Given the description of an element on the screen output the (x, y) to click on. 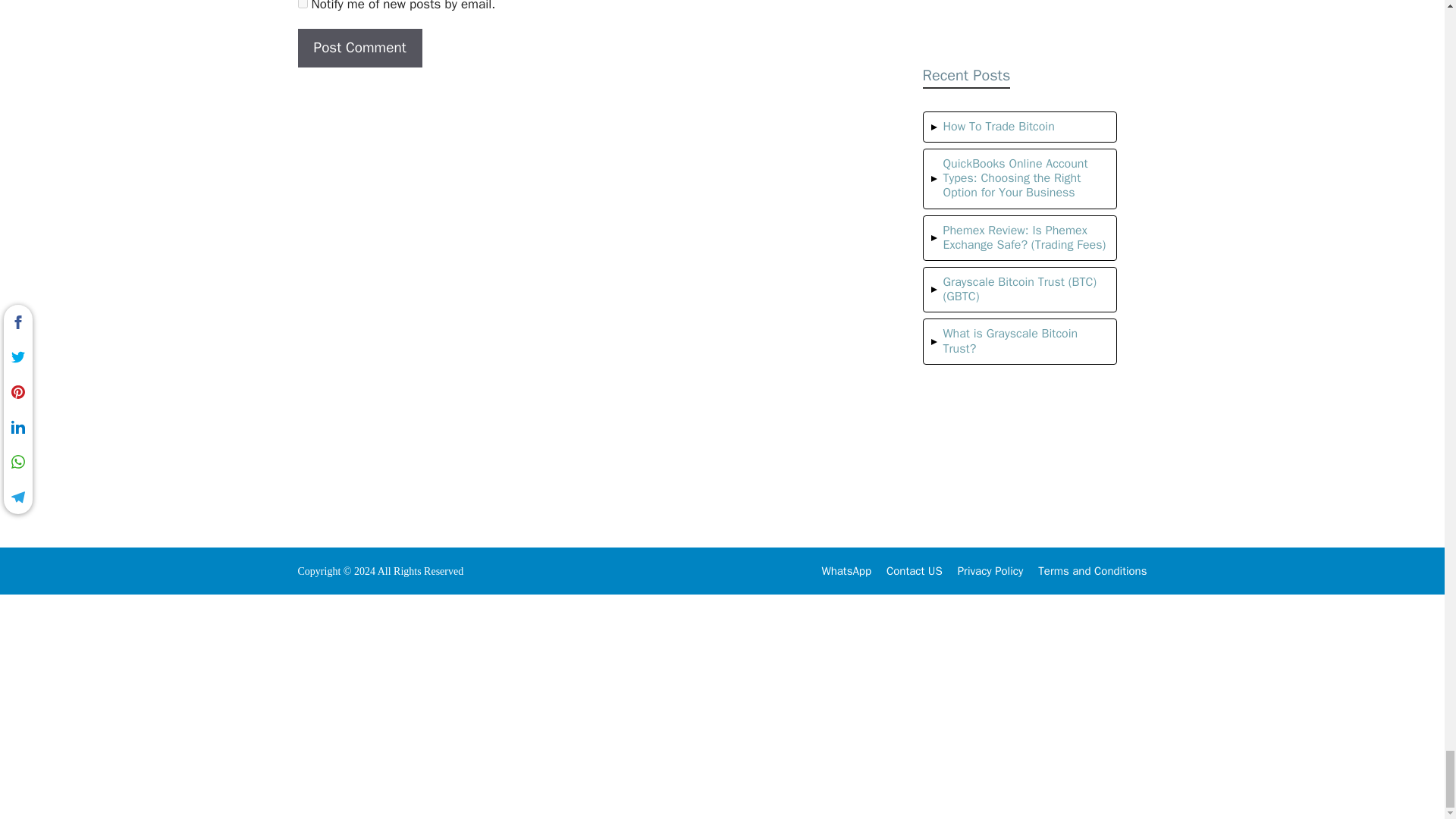
Post Comment (359, 47)
subscribe (302, 4)
